Given the description of an element on the screen output the (x, y) to click on. 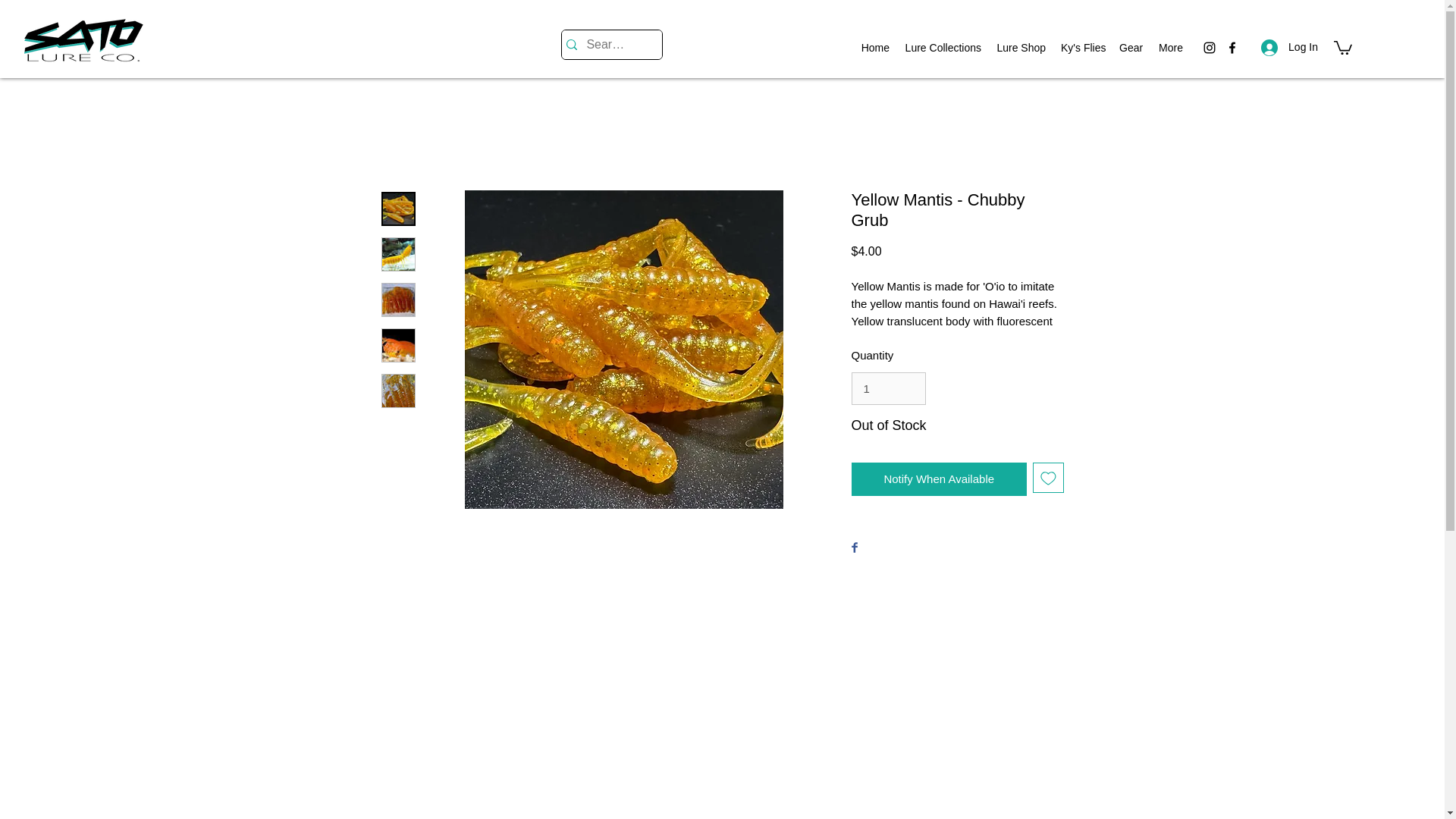
Log In (1288, 47)
Ky's Flies (1082, 47)
Home (874, 47)
1 (887, 388)
Lure Collections (942, 47)
Lure Shop (1020, 47)
Notify When Available (938, 479)
Gear (1131, 47)
